Given the description of an element on the screen output the (x, y) to click on. 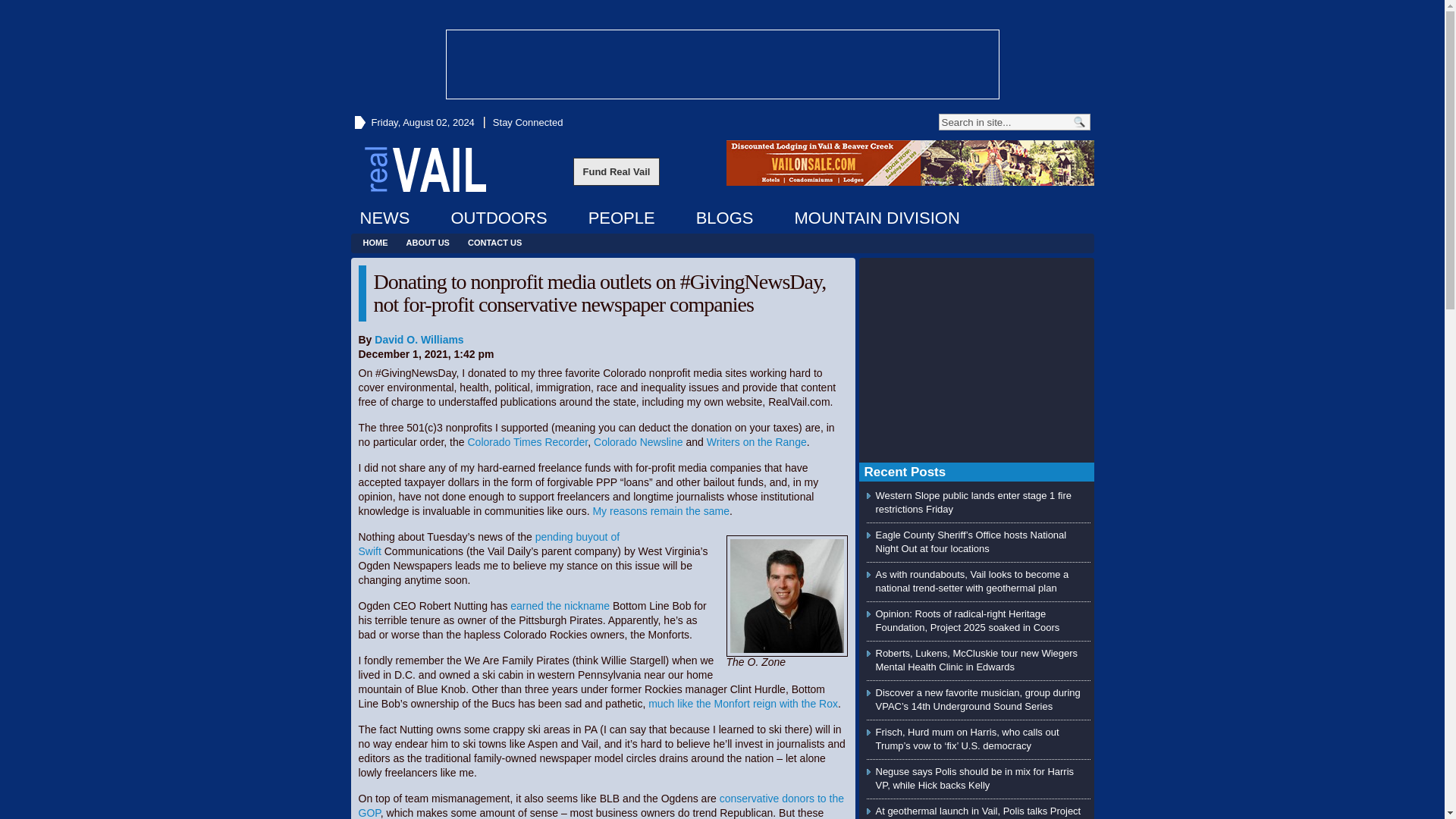
Writers on the Range (756, 441)
conservative donors to the GOP (600, 805)
CONTACT US (494, 242)
Search in site... (1004, 121)
ABOUT US (427, 242)
Posts by David O. Williams (418, 339)
PEOPLE (621, 217)
Real Vail (424, 168)
much like the Monfort reign with the Rox (742, 703)
earned the nickname (560, 605)
pending buyout of Swift (489, 543)
HOME (374, 242)
Fund Real Vail (617, 171)
My reasons remain the same (660, 510)
Colorado Newsline (638, 441)
